Given the description of an element on the screen output the (x, y) to click on. 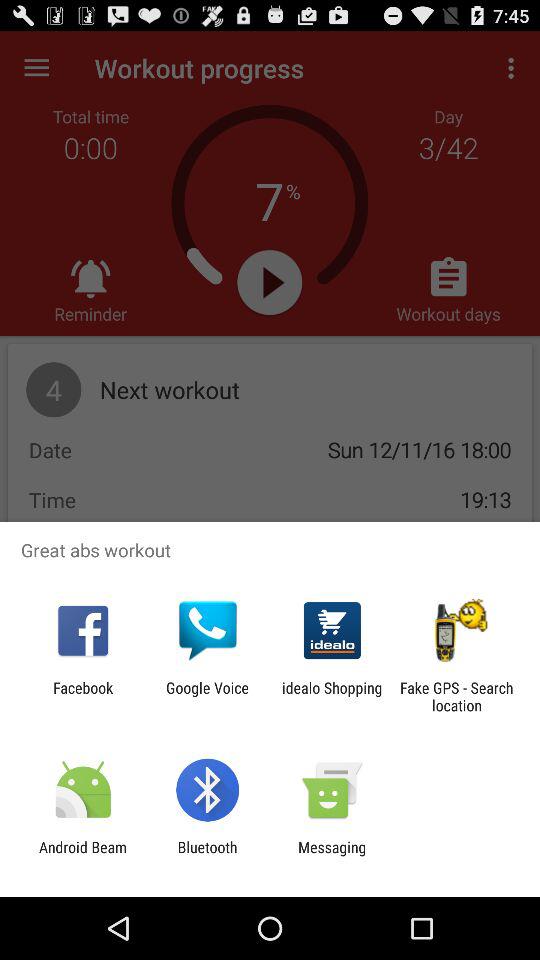
turn on app to the left of the messaging icon (207, 856)
